Given the description of an element on the screen output the (x, y) to click on. 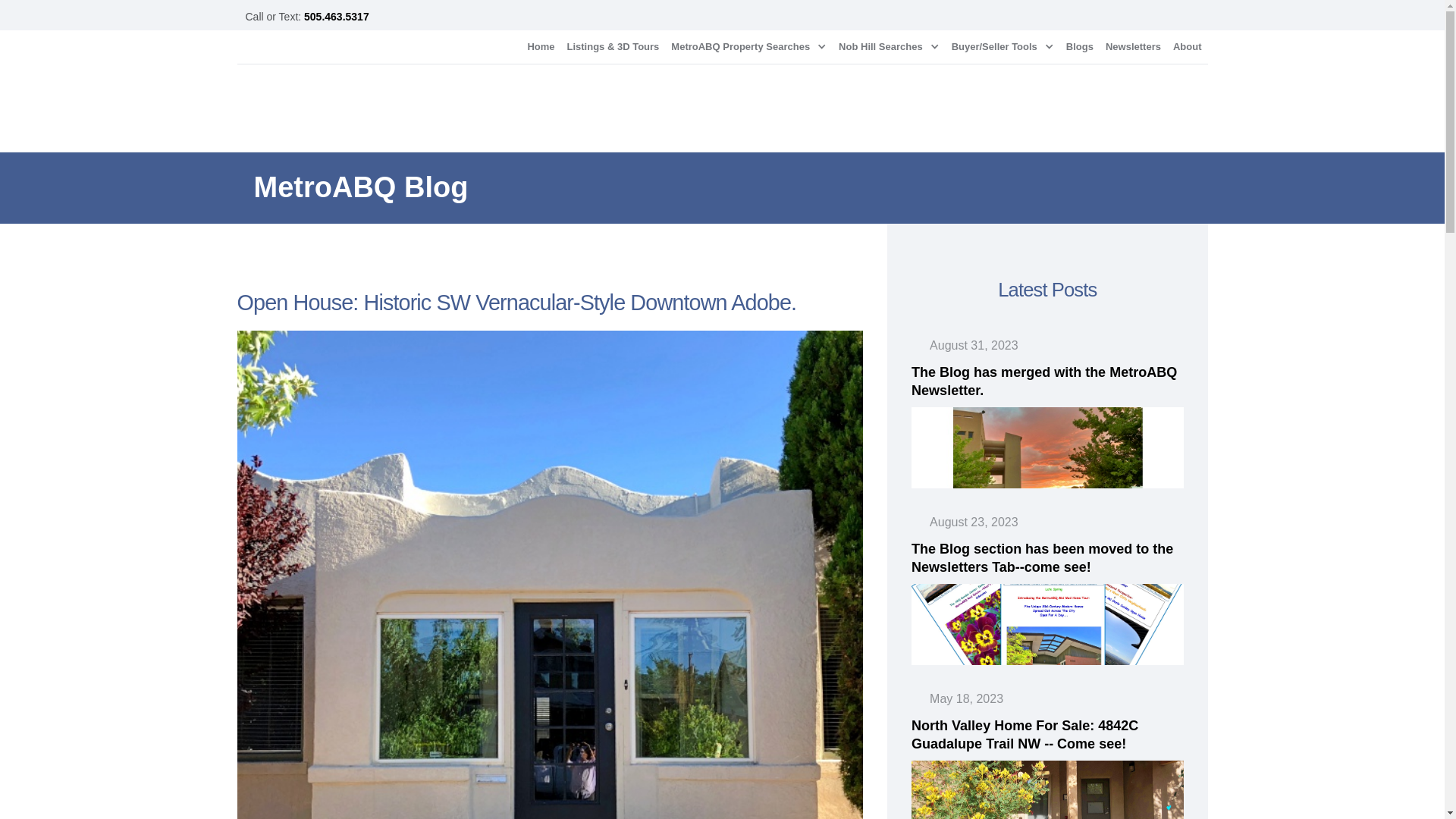
Blogs (1079, 46)
Home (540, 46)
Newsletters (1133, 46)
505.463.5317 (336, 16)
About (1187, 46)
